Given the description of an element on the screen output the (x, y) to click on. 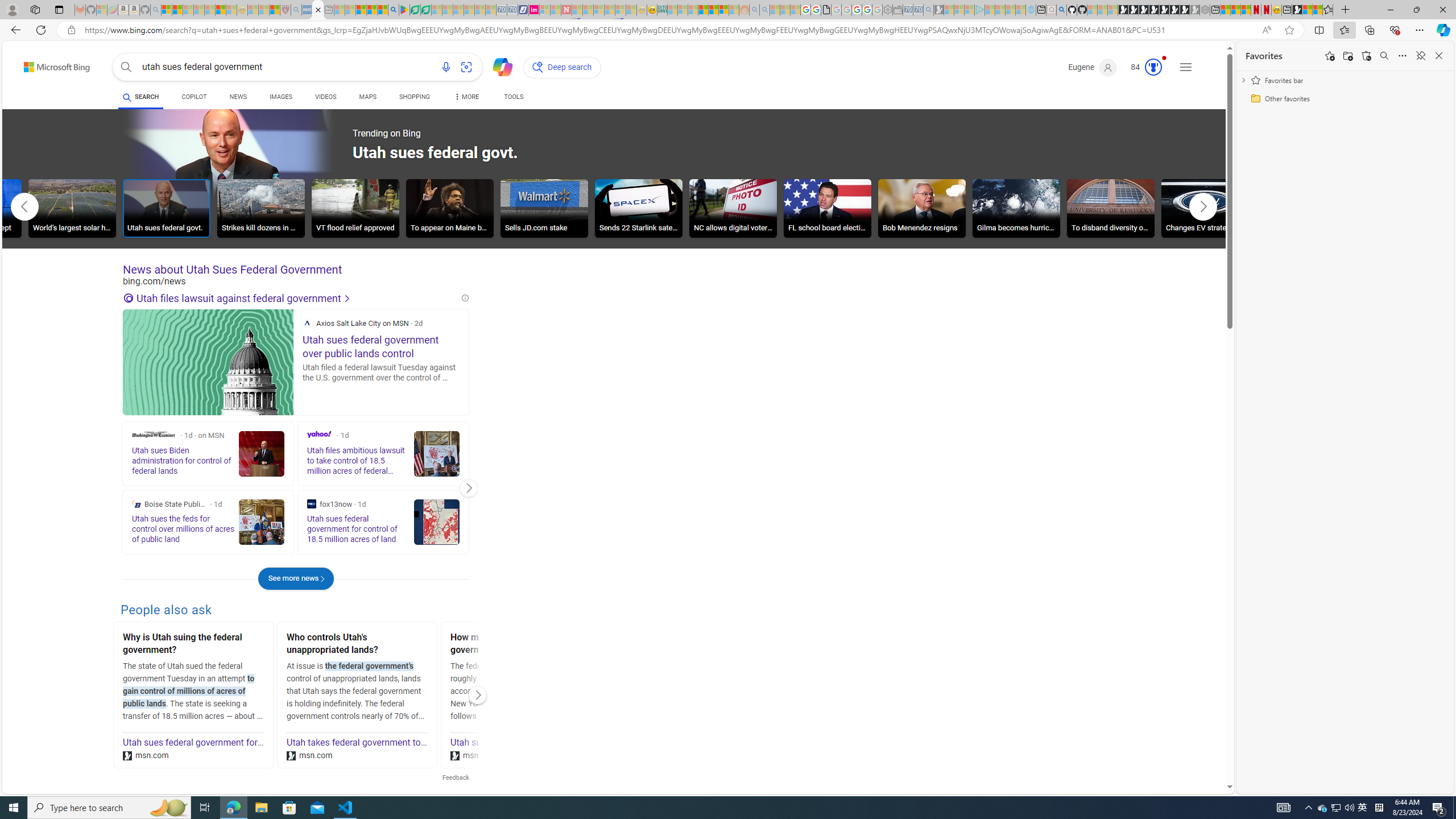
MAPS (367, 98)
Utah files lawsuit against federal government (291, 298)
Search button (126, 66)
NC allows digital voter ID (732, 207)
AutomationID: serp_medal_svg (1152, 67)
